Given the description of an element on the screen output the (x, y) to click on. 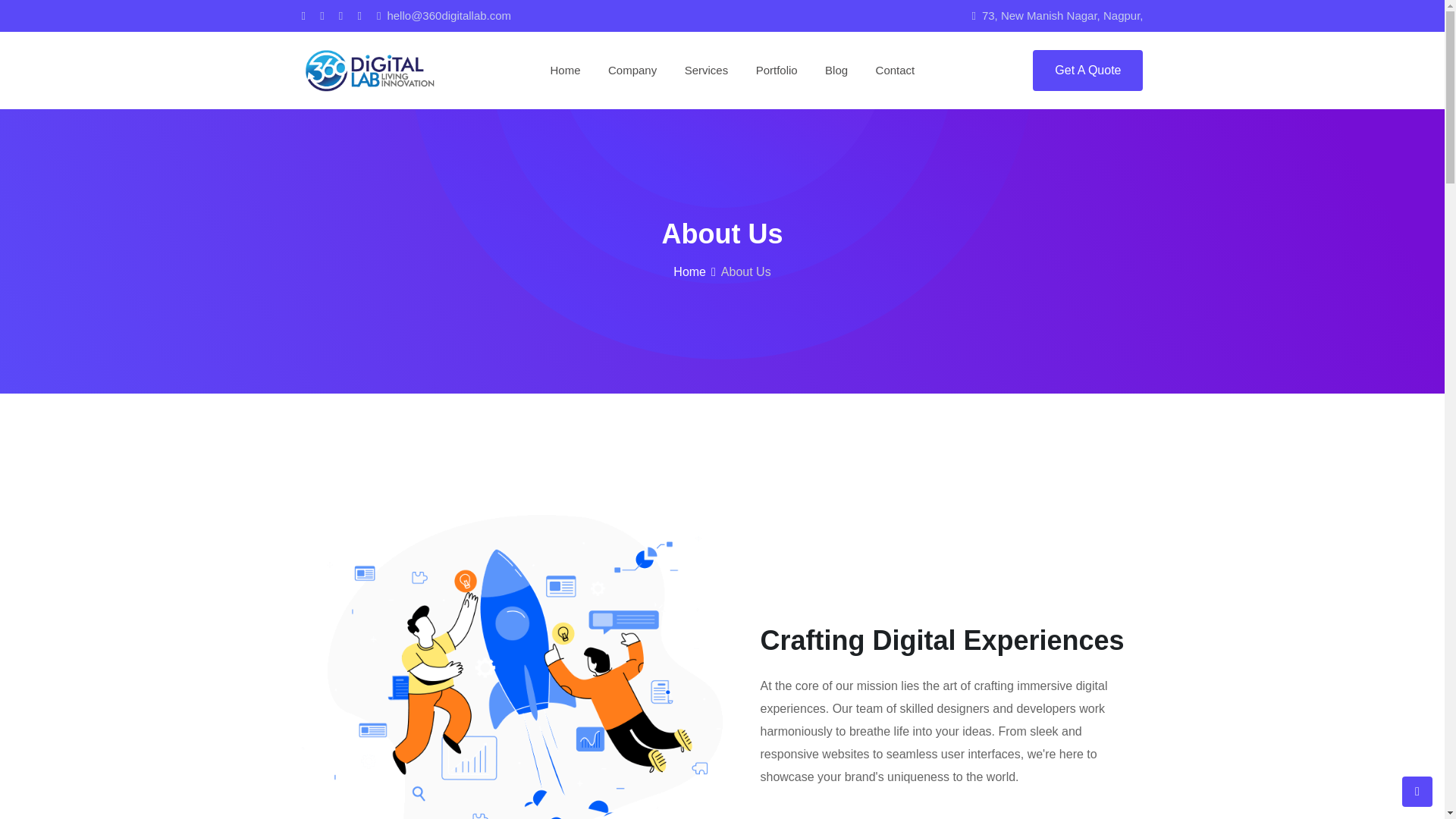
Go to 360 Digital Lab. (689, 271)
Get A Quote (1087, 69)
Company (631, 69)
